Given the description of an element on the screen output the (x, y) to click on. 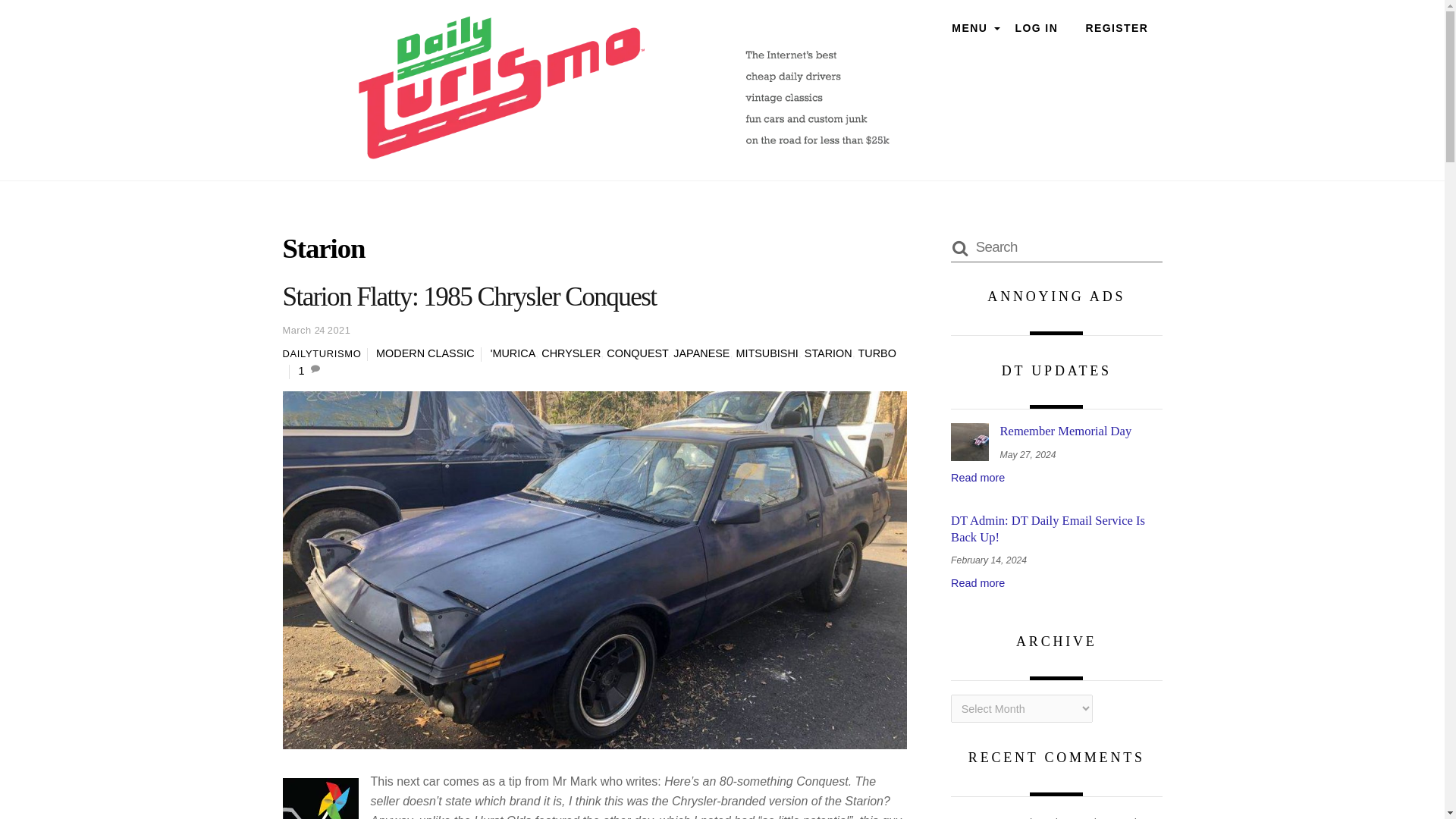
REGISTER (1116, 28)
LOG IN (1036, 28)
CHRYSLER (570, 353)
MITSUBISHI (766, 353)
DAILYTURISMO (321, 353)
JAPANESE (700, 353)
Search (1055, 246)
MENU (969, 28)
DailyTurismo (623, 151)
'MURICA (512, 353)
MODERN CLASSIC (424, 353)
Starion Flatty: 1985 Chrysler Conquest (469, 296)
TURBO (876, 353)
CONQUEST (636, 353)
